Given the description of an element on the screen output the (x, y) to click on. 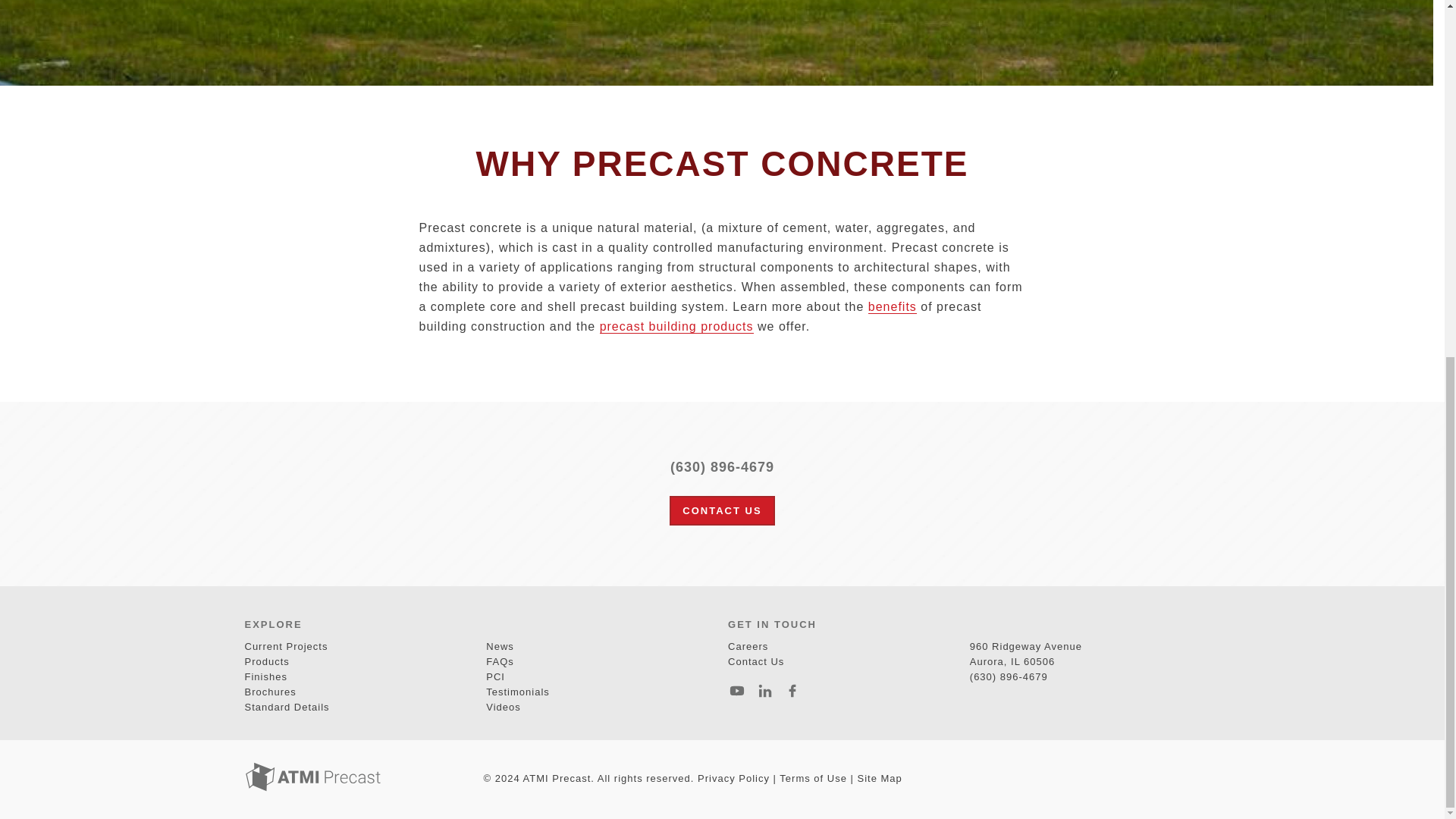
PCI (495, 676)
FAQs (499, 661)
Testimonials (518, 691)
Videos (503, 706)
Brochures (269, 691)
